Given the description of an element on the screen output the (x, y) to click on. 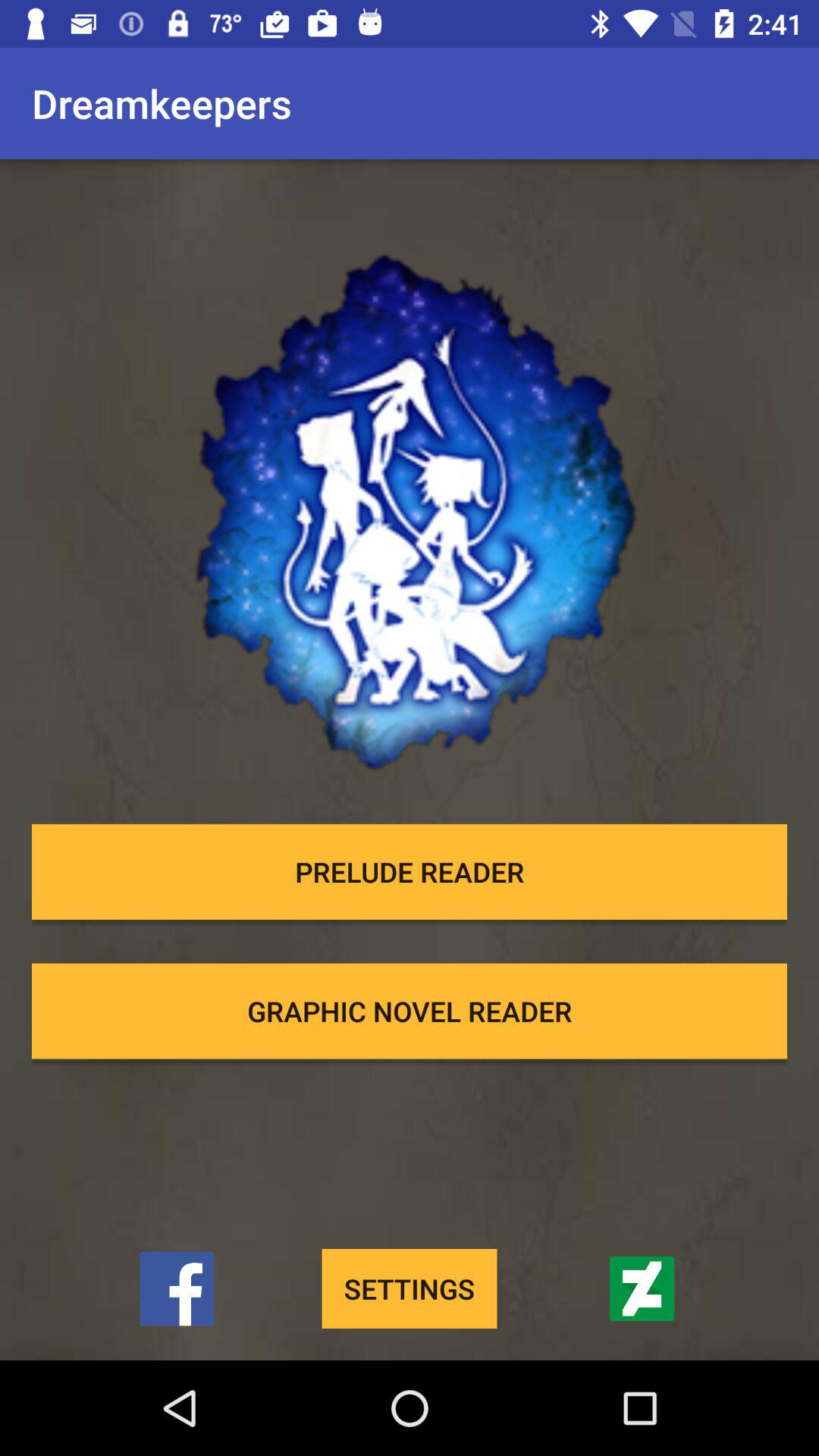
press prelude reader icon (409, 871)
